Given the description of an element on the screen output the (x, y) to click on. 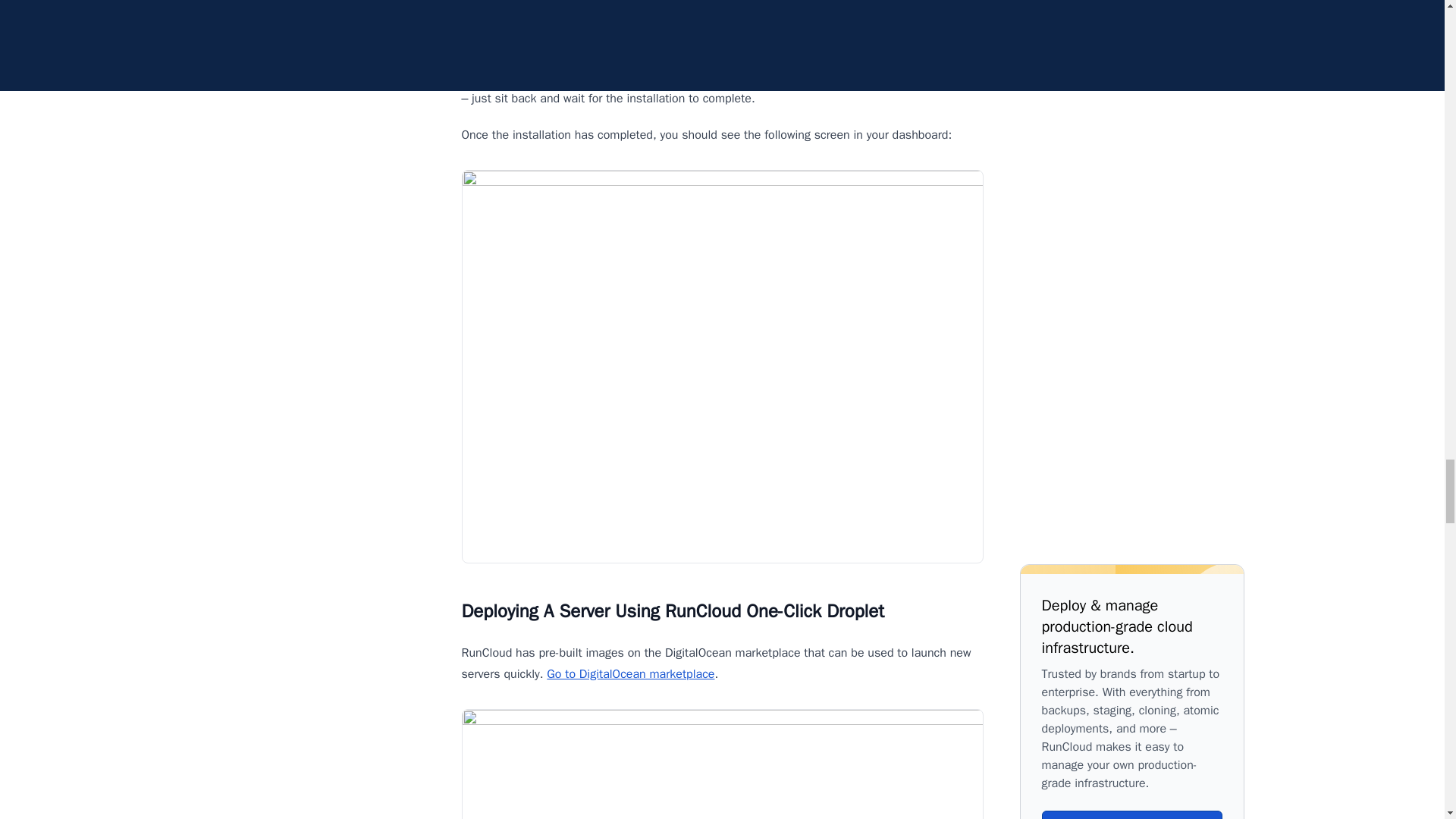
Go to DigitalOcean marketplace (630, 673)
Get Started Now (1132, 814)
